Given the description of an element on the screen output the (x, y) to click on. 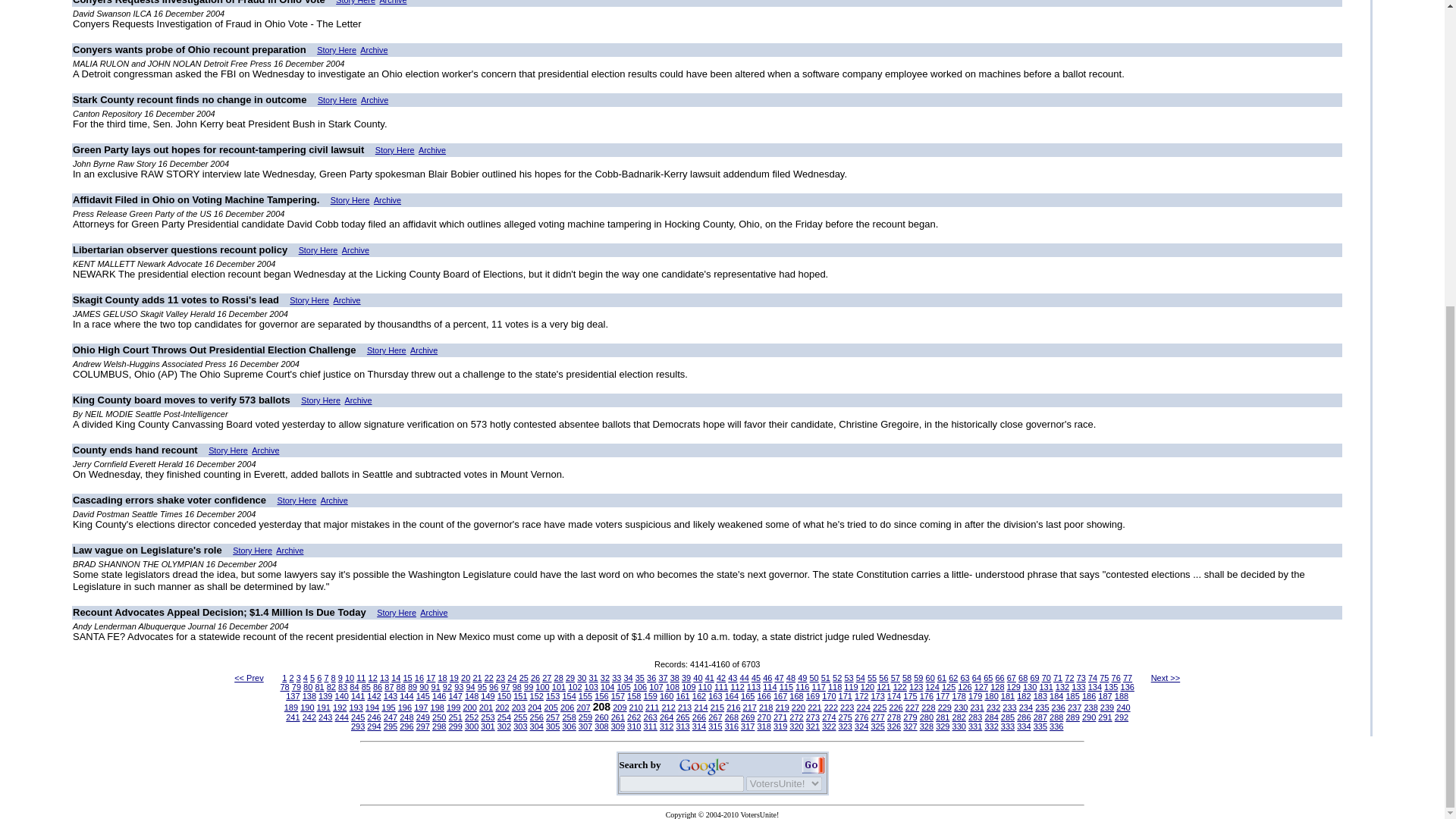
Story Here (309, 299)
Story Here (336, 99)
Archive (355, 249)
Powered by Google (703, 764)
Google Search (812, 764)
Story Here (349, 199)
Story Here (394, 149)
Story Here (336, 49)
Archive (387, 199)
Story Here (355, 2)
